Given the description of an element on the screen output the (x, y) to click on. 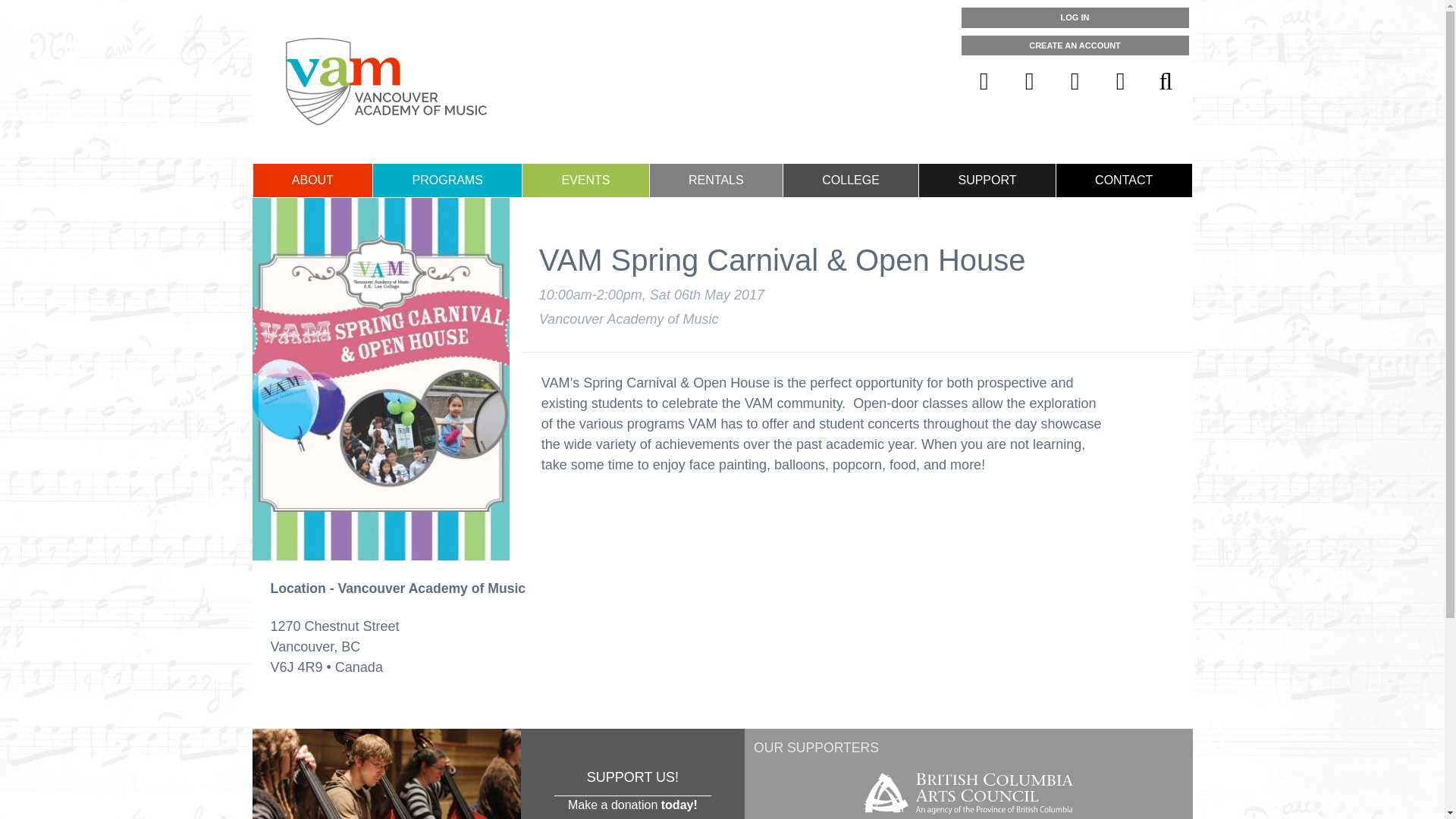
Vancouver Academy of Music Facebook (983, 80)
CONTACT (1124, 180)
Vancouver Academy of Music Twitter (1029, 80)
Vancouver Academy of Music (385, 81)
COLLEGE (850, 180)
LOG IN (1074, 17)
BC Arts Council (968, 816)
ABOUT (312, 180)
Log In (1074, 17)
RENTALS (716, 180)
EVENTS (585, 180)
CREATE AN ACCOUNT (1074, 45)
SUPPORT (986, 180)
Vancouver Academy of Music YouTube (1120, 80)
Vancouver Academy of Music Instagram (1074, 80)
